Given the description of an element on the screen output the (x, y) to click on. 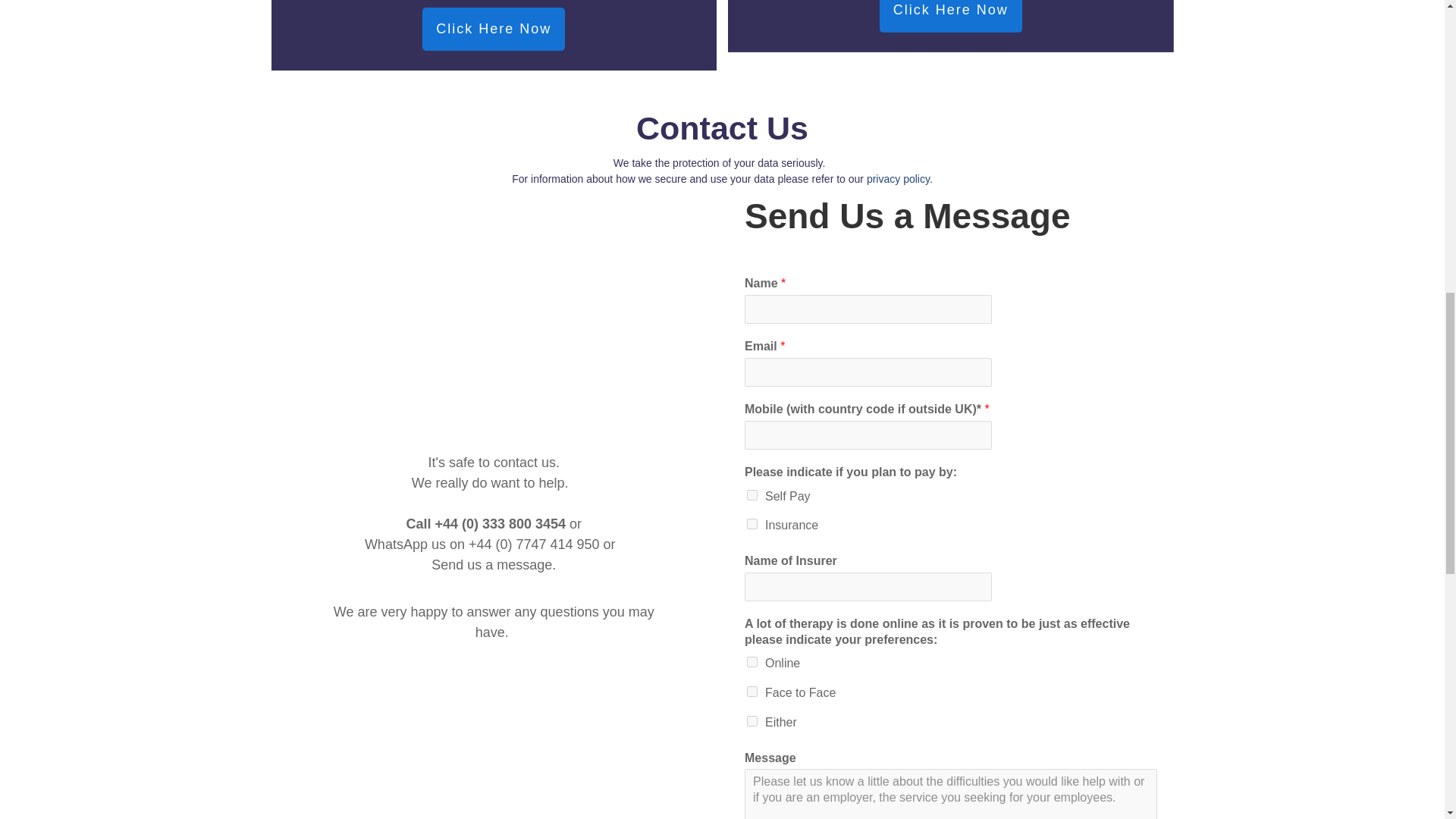
Self Pay (751, 494)
Online (751, 661)
privacy policy. (899, 178)
Insurance (751, 523)
Click Here Now (493, 29)
Click Here Now (950, 16)
Face to Face (751, 691)
Either (751, 720)
